Given the description of an element on the screen output the (x, y) to click on. 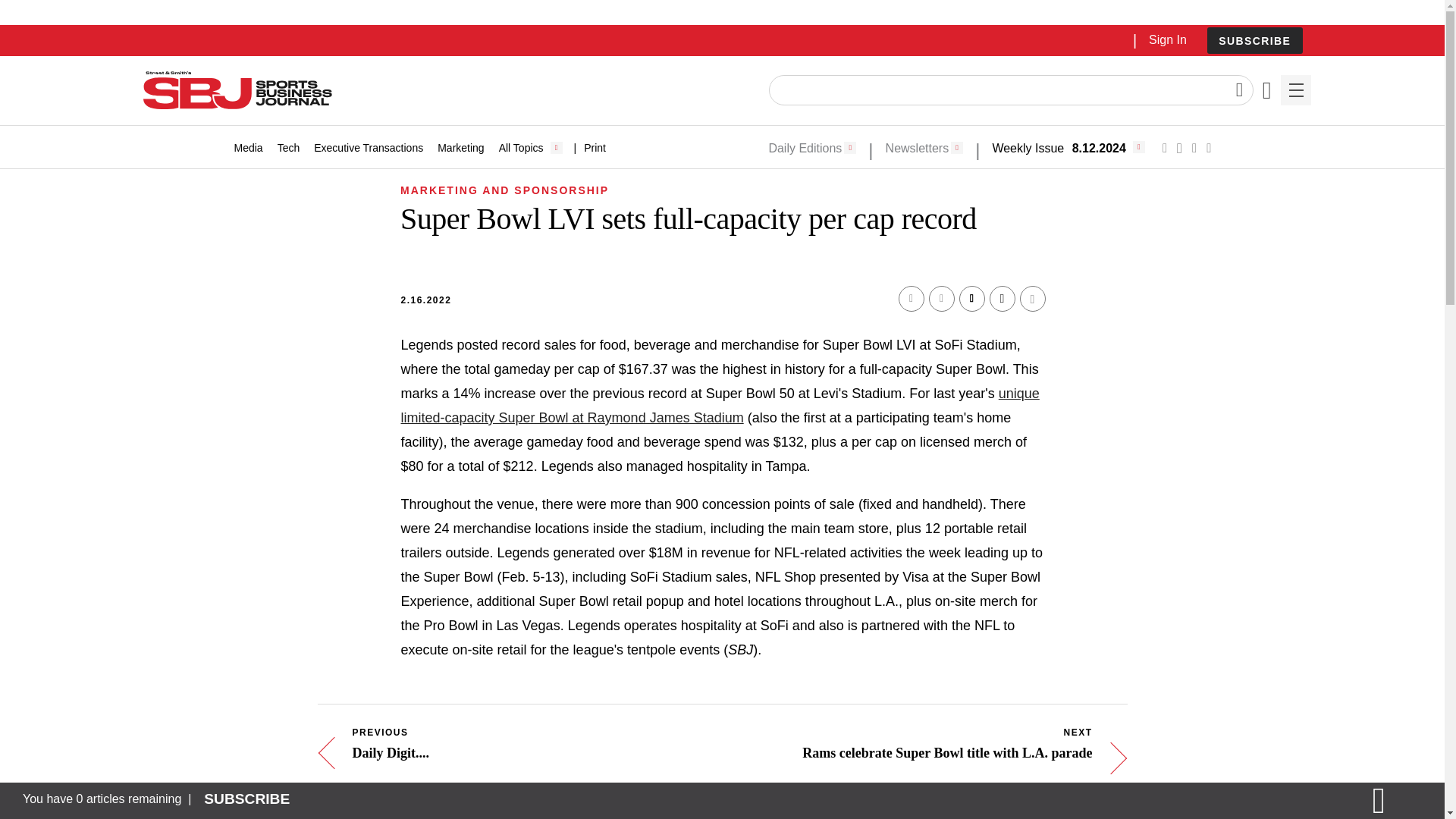
Sign In (1167, 40)
Menu (1294, 90)
SUBSCRIBE (1255, 40)
SUBSCRIBE (1254, 40)
SIGN IN (1194, 324)
